Given the description of an element on the screen output the (x, y) to click on. 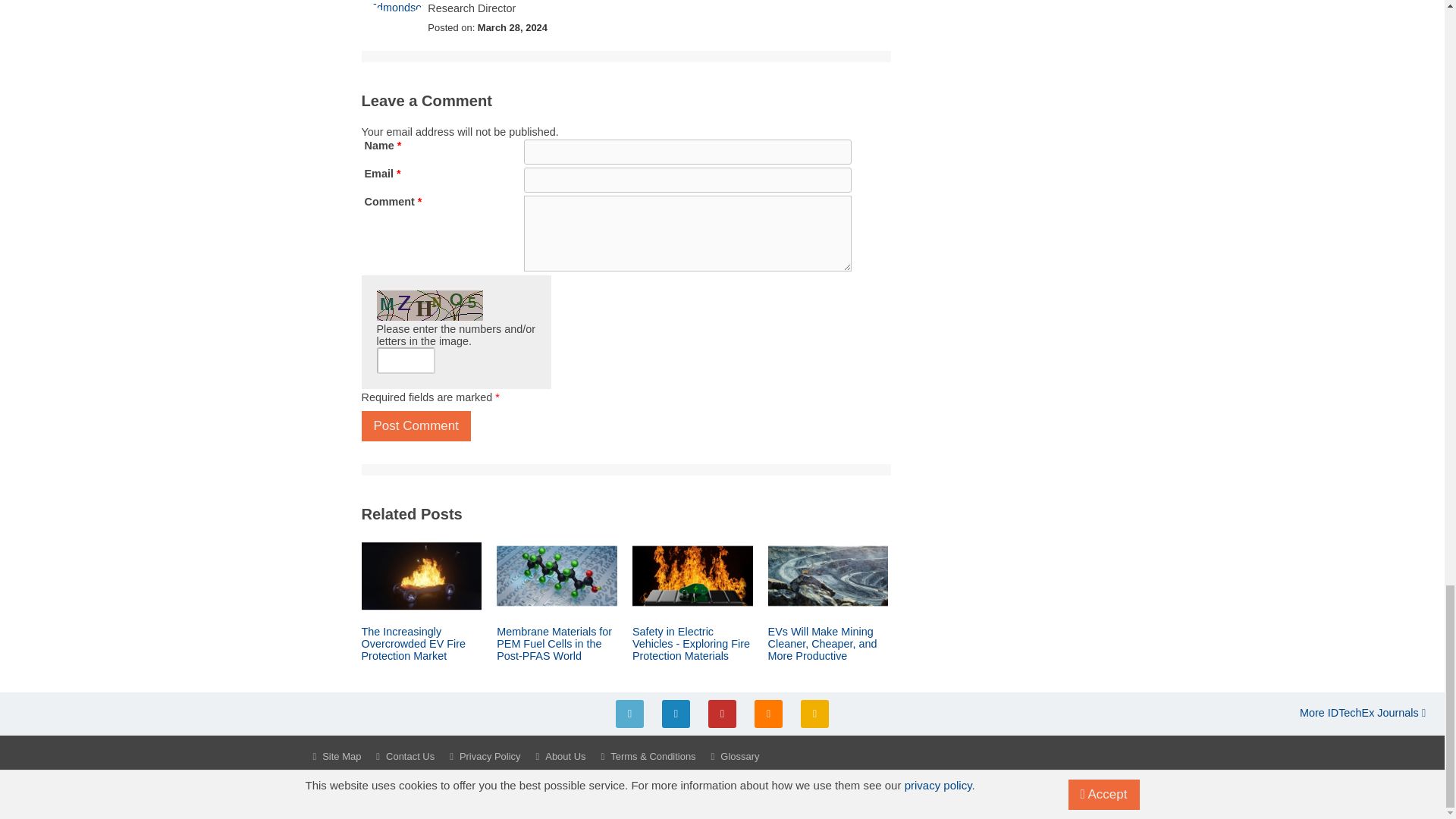
Dr James Edmondson (398, 6)
